Given the description of an element on the screen output the (x, y) to click on. 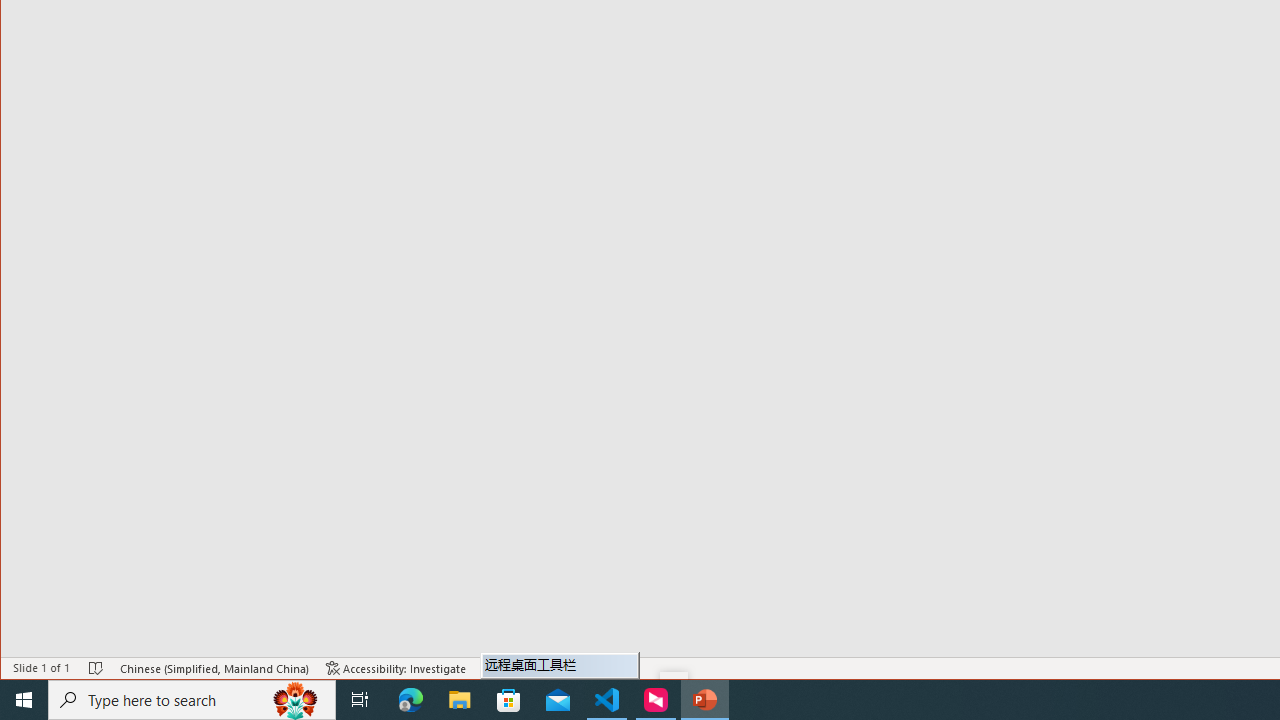
Task View (359, 699)
PowerPoint - 1 running window (704, 699)
File Explorer (460, 699)
Visual Studio Code - 1 running window (607, 699)
Microsoft Store (509, 699)
Type here to search (191, 699)
Search highlights icon opens search home window (295, 699)
Microsoft Edge (411, 699)
